Given the description of an element on the screen output the (x, y) to click on. 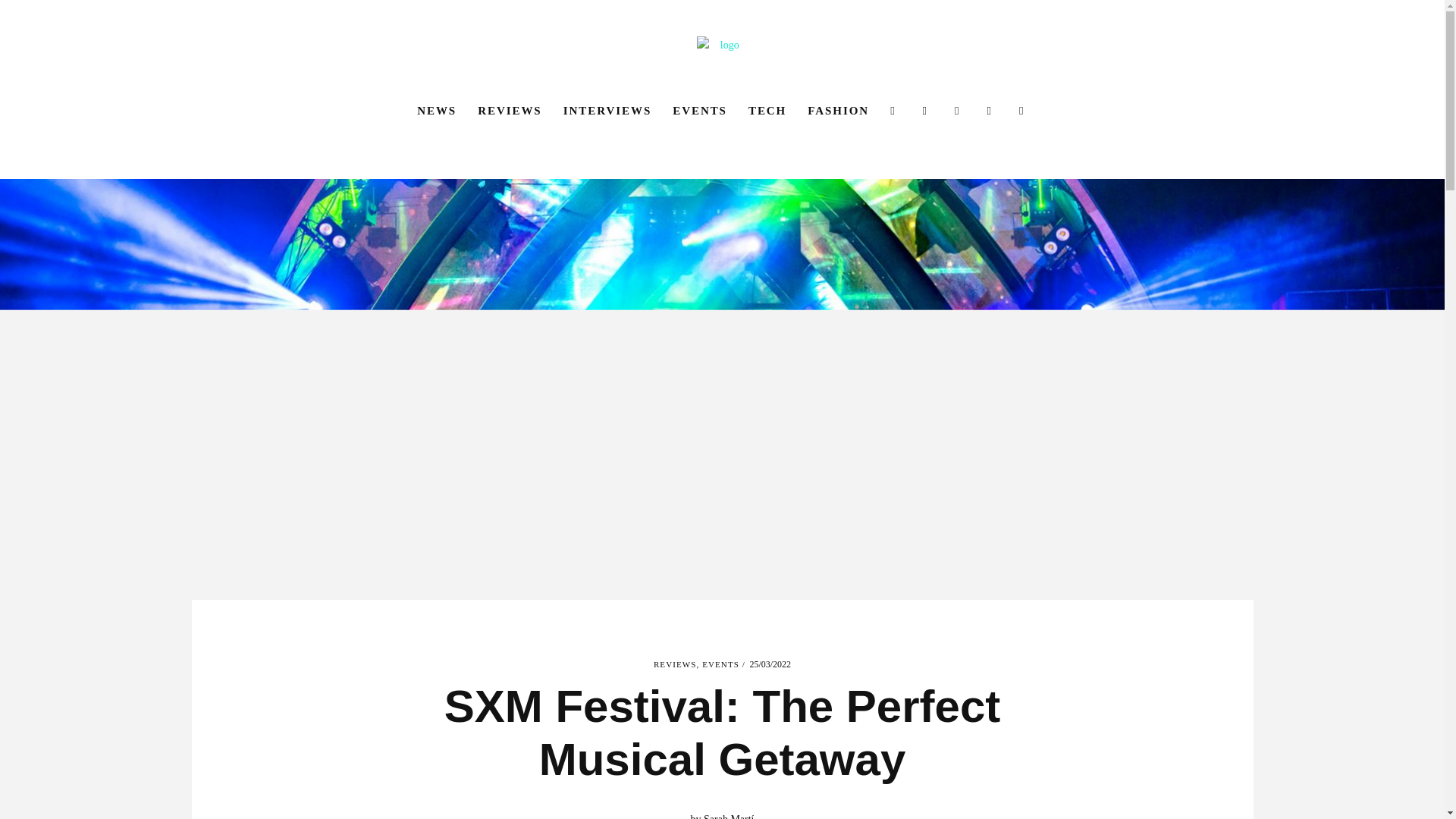
REVIEWS (675, 664)
FASHION (837, 110)
INTERVIEWS (607, 110)
REVIEWS (510, 110)
EVENTS (700, 110)
EVENTS (720, 664)
